Given the description of an element on the screen output the (x, y) to click on. 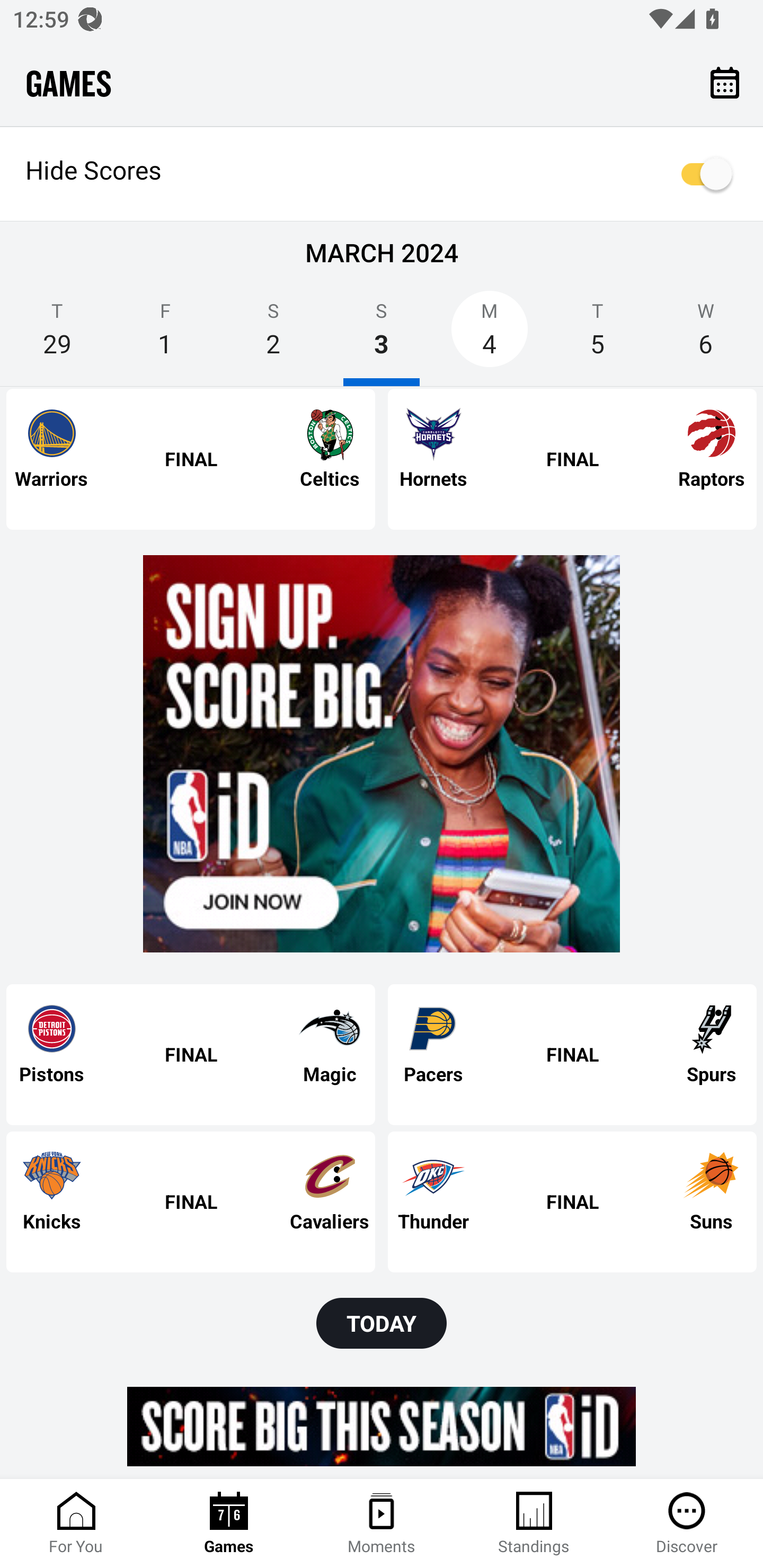
Calendar (724, 81)
Hide Scores (381, 174)
T 29 (57, 334)
F 1 (165, 334)
S 2 (273, 334)
S 3 (381, 334)
M 4 (489, 334)
T 5 (597, 334)
W 6 (705, 334)
Post Game - Pistons at Magic Pistons FINAL Magic (190, 1054)
Post Game - Pacers at Spurs Pacers FINAL Spurs (571, 1054)
Post Game - Thunder at Suns Thunder FINAL Suns (571, 1201)
TODAY (381, 1323)
For You (76, 1523)
Moments (381, 1523)
Standings (533, 1523)
Discover (686, 1523)
